Given the description of an element on the screen output the (x, y) to click on. 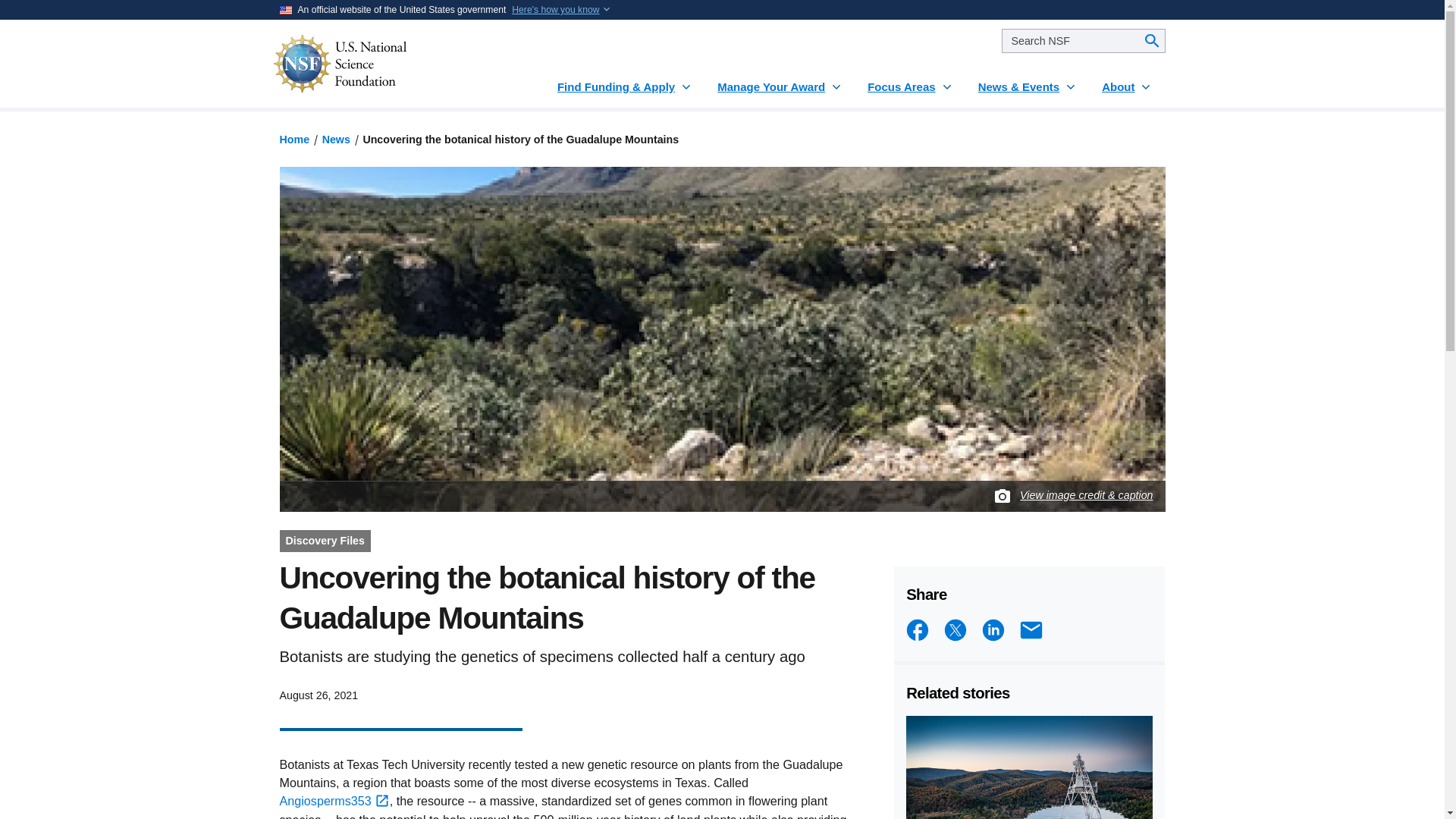
LinkedIn (992, 629)
Focus Areas (910, 80)
Email (1030, 629)
About (1126, 80)
Home (293, 139)
Facebook (917, 629)
News (335, 139)
Angiosperms353 (333, 800)
Here's how you know (555, 9)
